Given the description of an element on the screen output the (x, y) to click on. 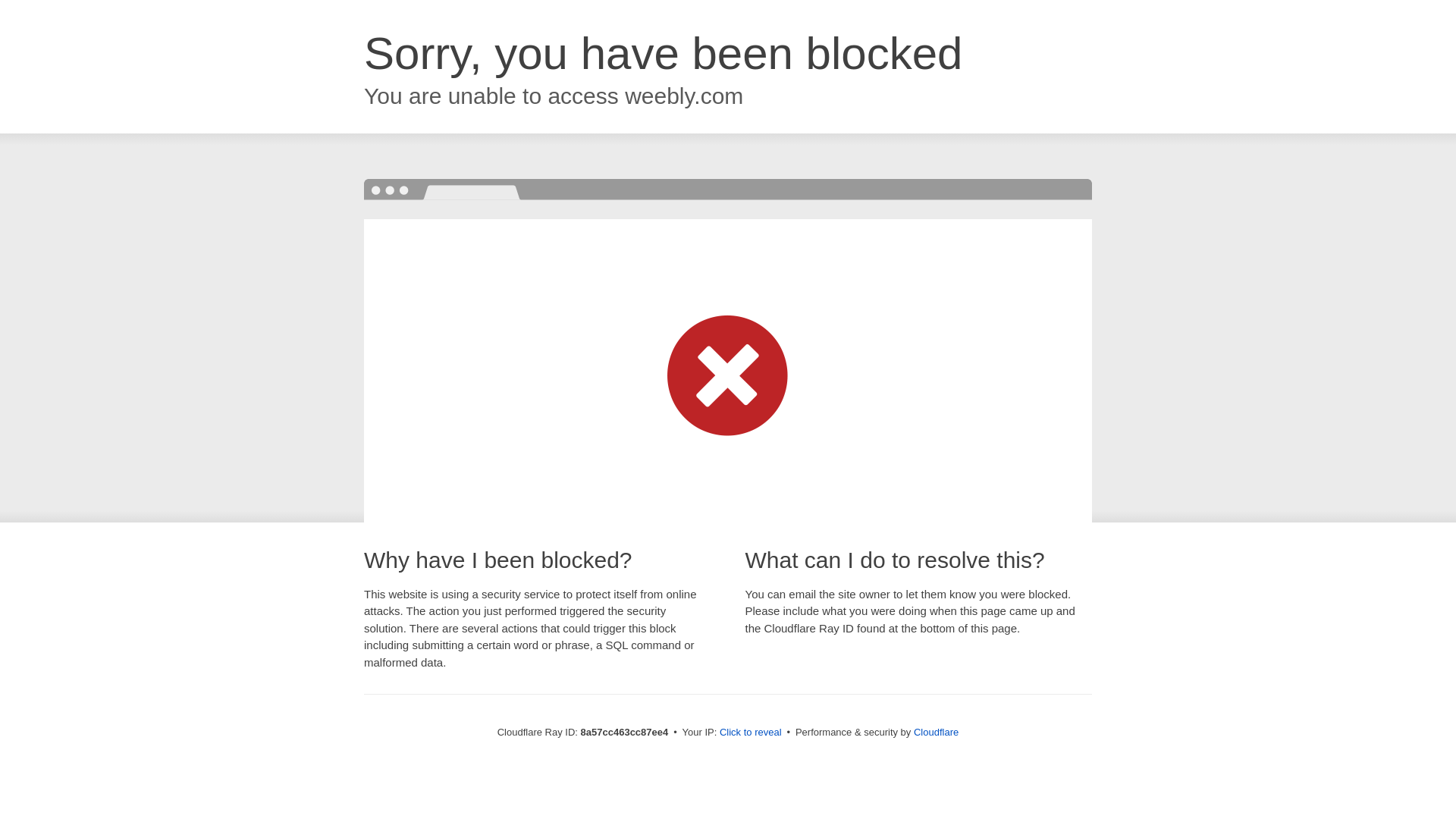
Click to reveal (750, 732)
Cloudflare (936, 731)
